Given the description of an element on the screen output the (x, y) to click on. 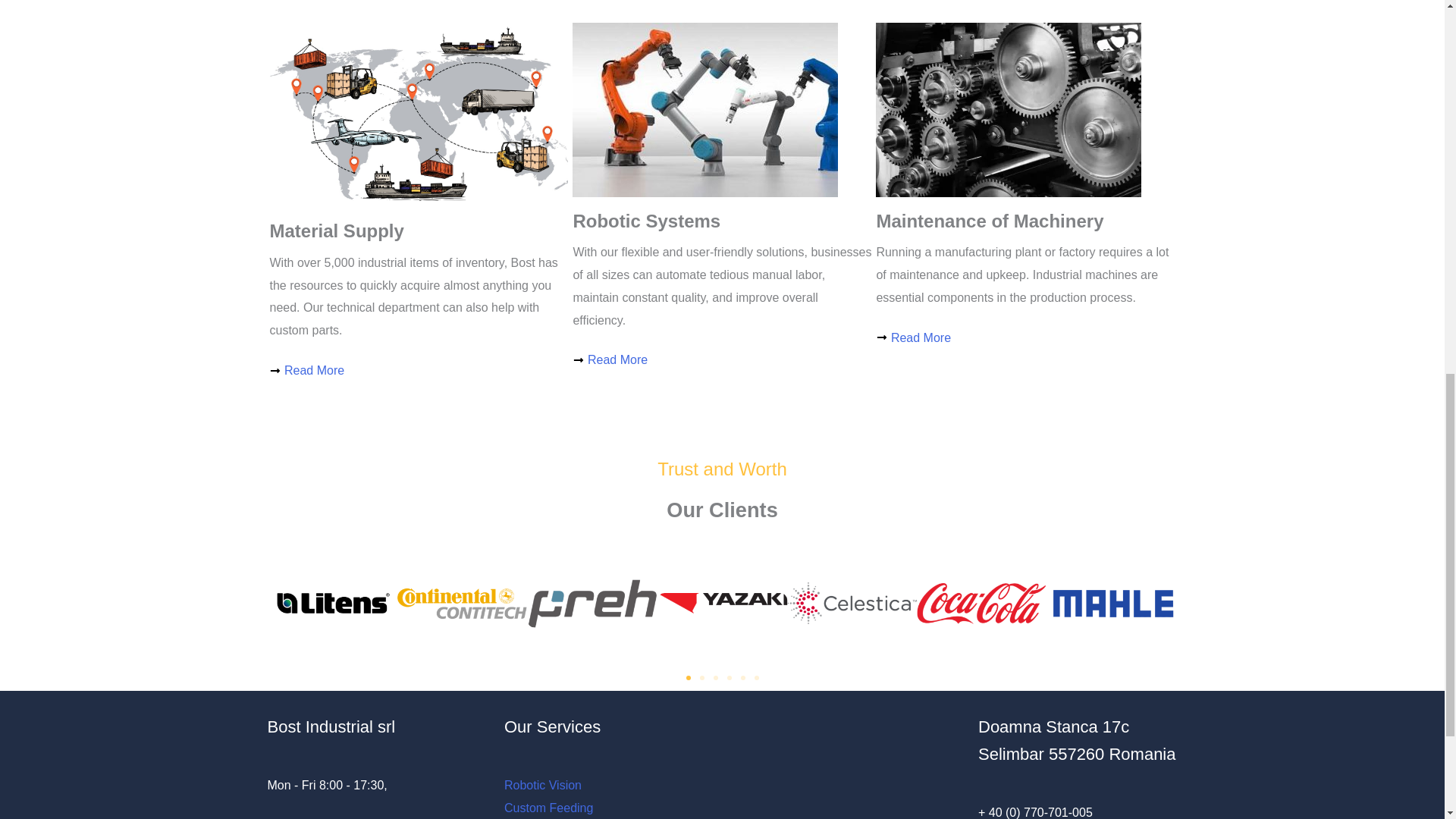
Read More (418, 370)
Read More (721, 359)
Robotic Vision (541, 784)
Read More (1024, 337)
industrial-robotic-arms (705, 109)
Custom Feeding (547, 807)
